Given the description of an element on the screen output the (x, y) to click on. 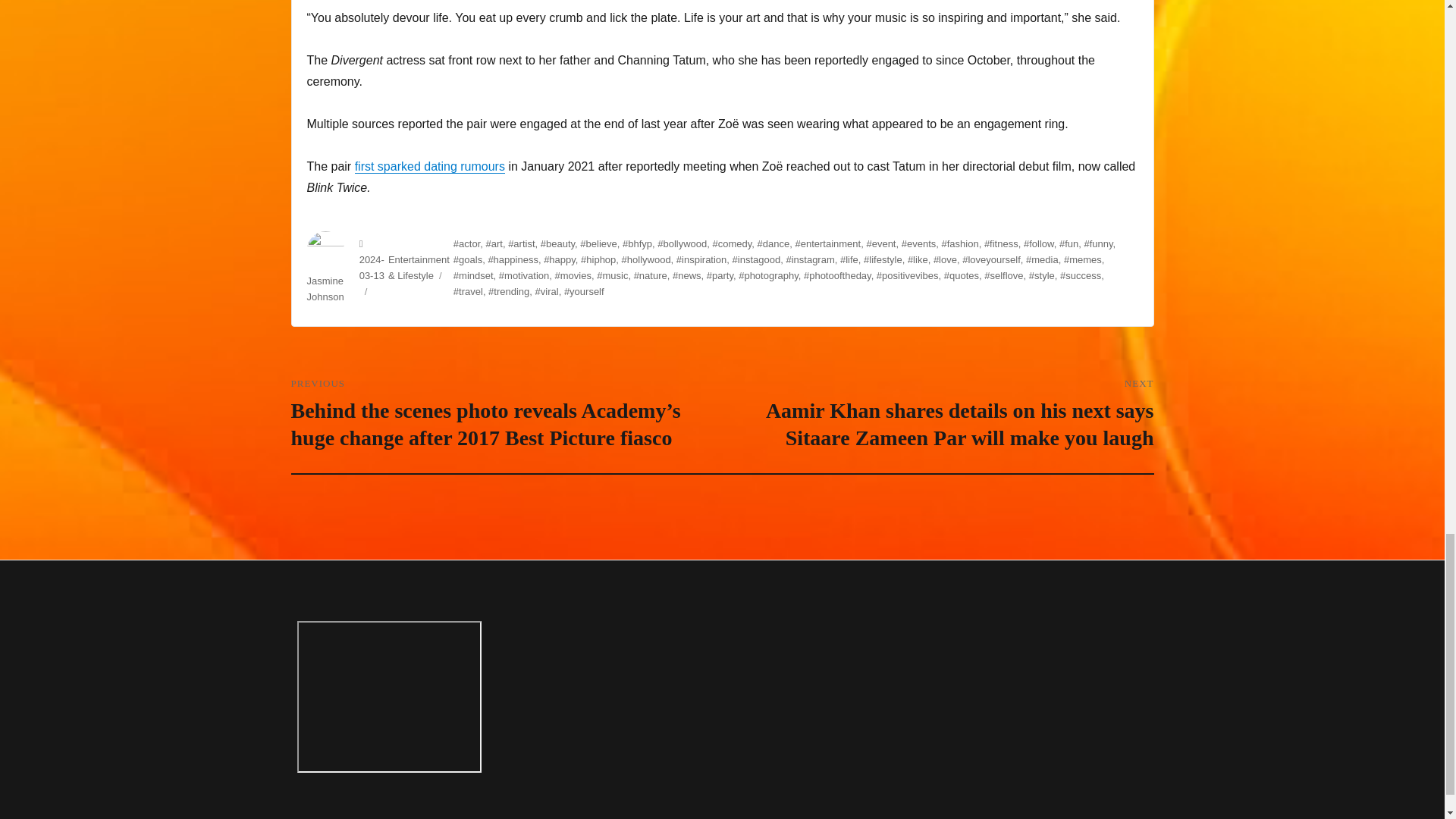
first sparked dating rumours (430, 165)
amazing (389, 696)
Jasmine Johnson (324, 288)
2024-03-13 (371, 267)
